Given the description of an element on the screen output the (x, y) to click on. 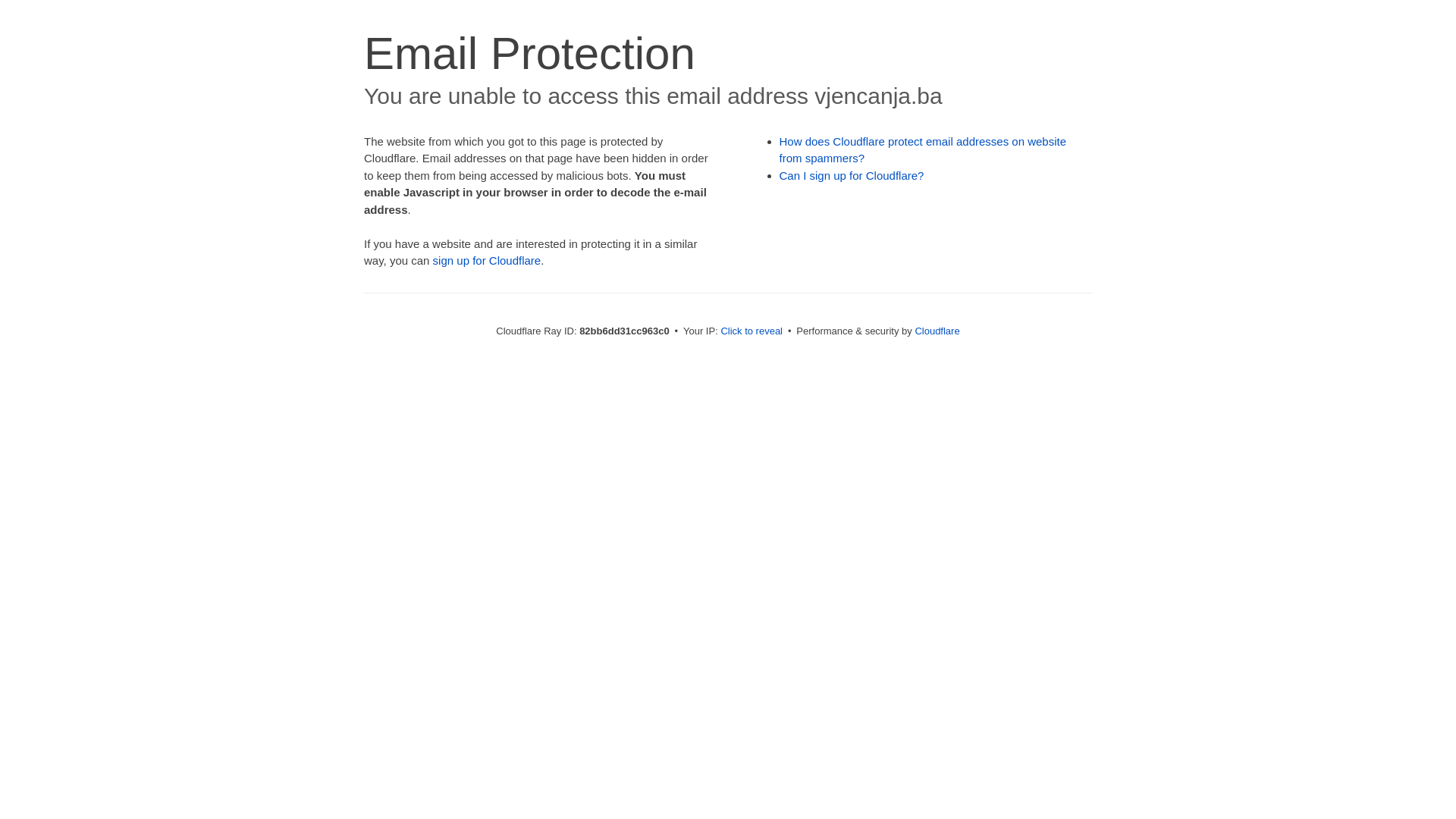
Click to reveal Element type: text (751, 330)
sign up for Cloudflare Element type: text (487, 260)
Can I sign up for Cloudflare? Element type: text (851, 175)
Cloudflare Element type: text (936, 330)
